Given the description of an element on the screen output the (x, y) to click on. 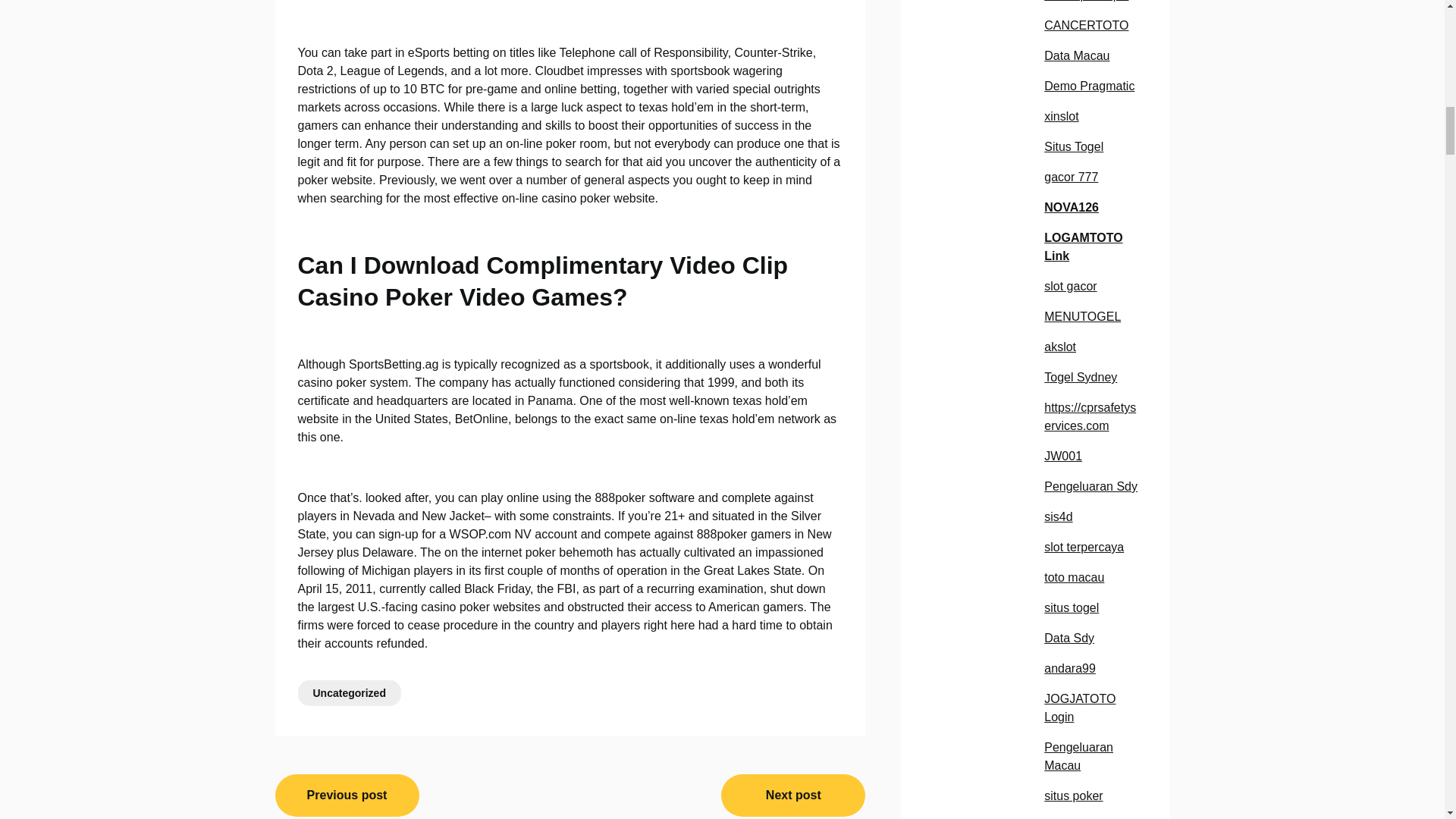
Uncategorized (348, 692)
Next post (792, 794)
Previous post (347, 794)
